Given the description of an element on the screen output the (x, y) to click on. 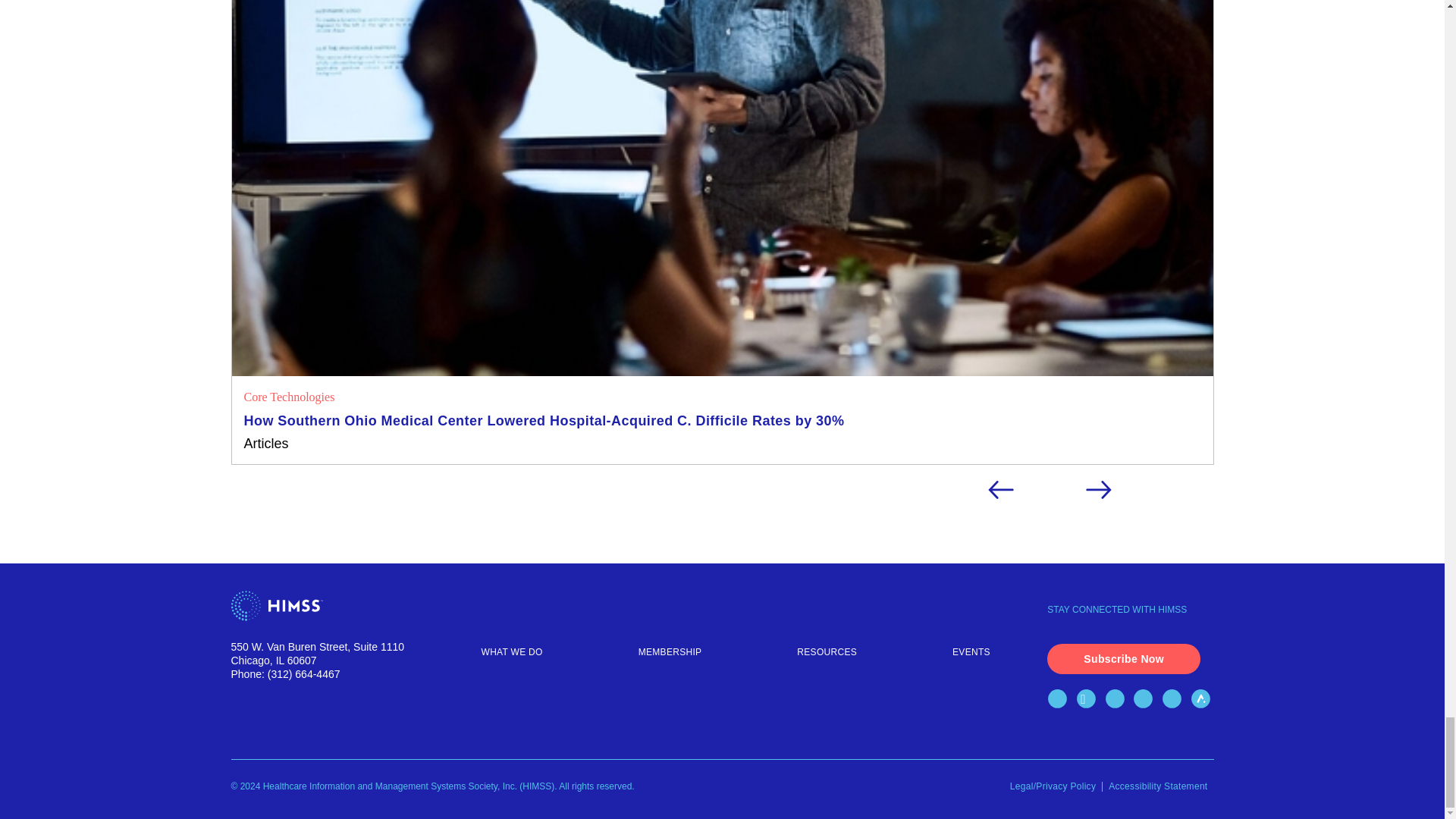
Subscribe to HIMSS on Instagram (1174, 701)
Himss.org (327, 607)
Connect with HIMSS on LinkedIn (1118, 701)
Follow HIMSS on Twitter (1089, 701)
Follow HIMSS on Facebook (1060, 701)
Subscribe to HIMSS on YouTube (1146, 701)
Login to Accelerate HIMSS Solution (1203, 701)
